Given the description of an element on the screen output the (x, y) to click on. 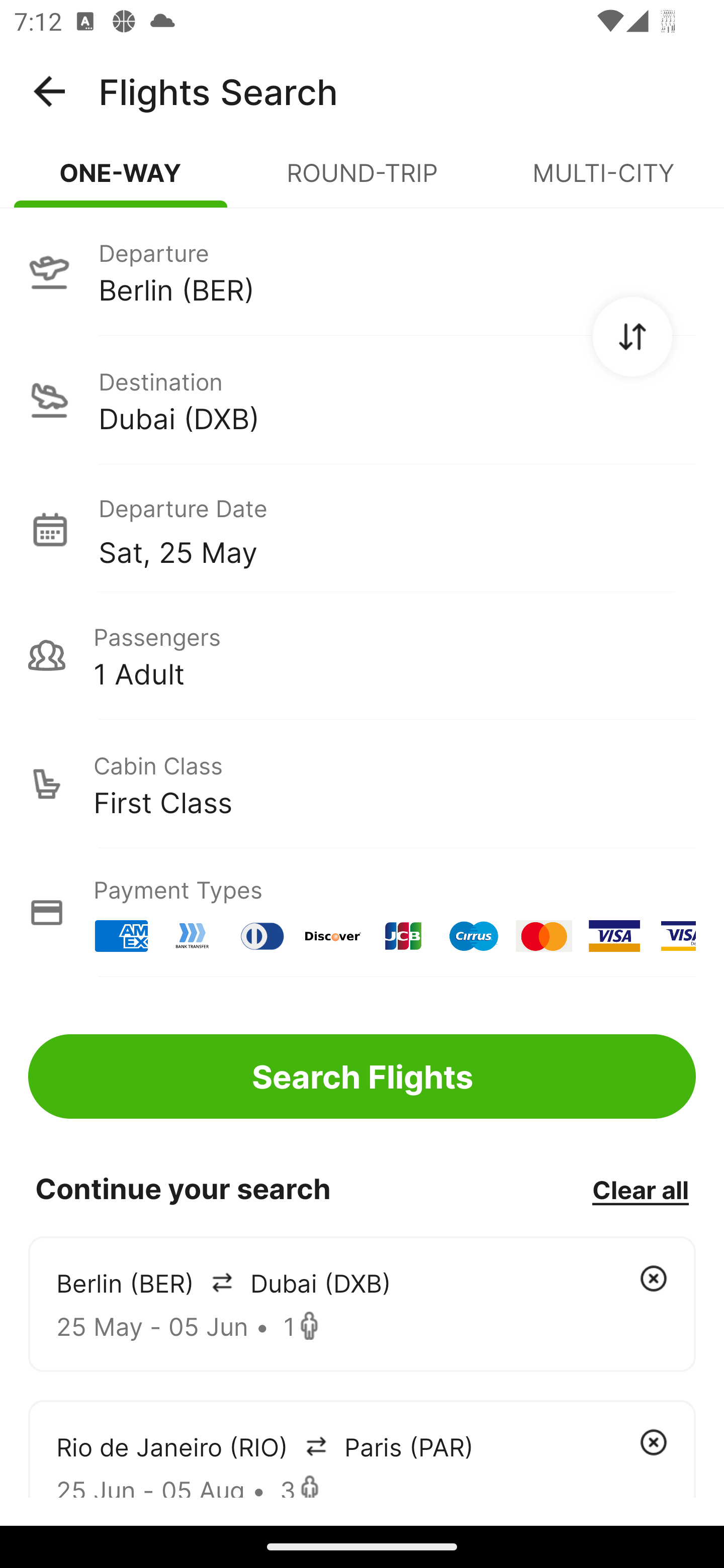
ONE-WAY (120, 180)
ROUND-TRIP (361, 180)
MULTI-CITY (603, 180)
Departure Berlin (BER) (362, 270)
Destination Dubai (DXB) (362, 400)
Departure Date Sat, 25 May (396, 528)
Passengers 1 Adult (362, 655)
Cabin Class First Class (362, 783)
Payment Types (362, 912)
Search Flights (361, 1075)
Clear all (640, 1189)
